Given the description of an element on the screen output the (x, y) to click on. 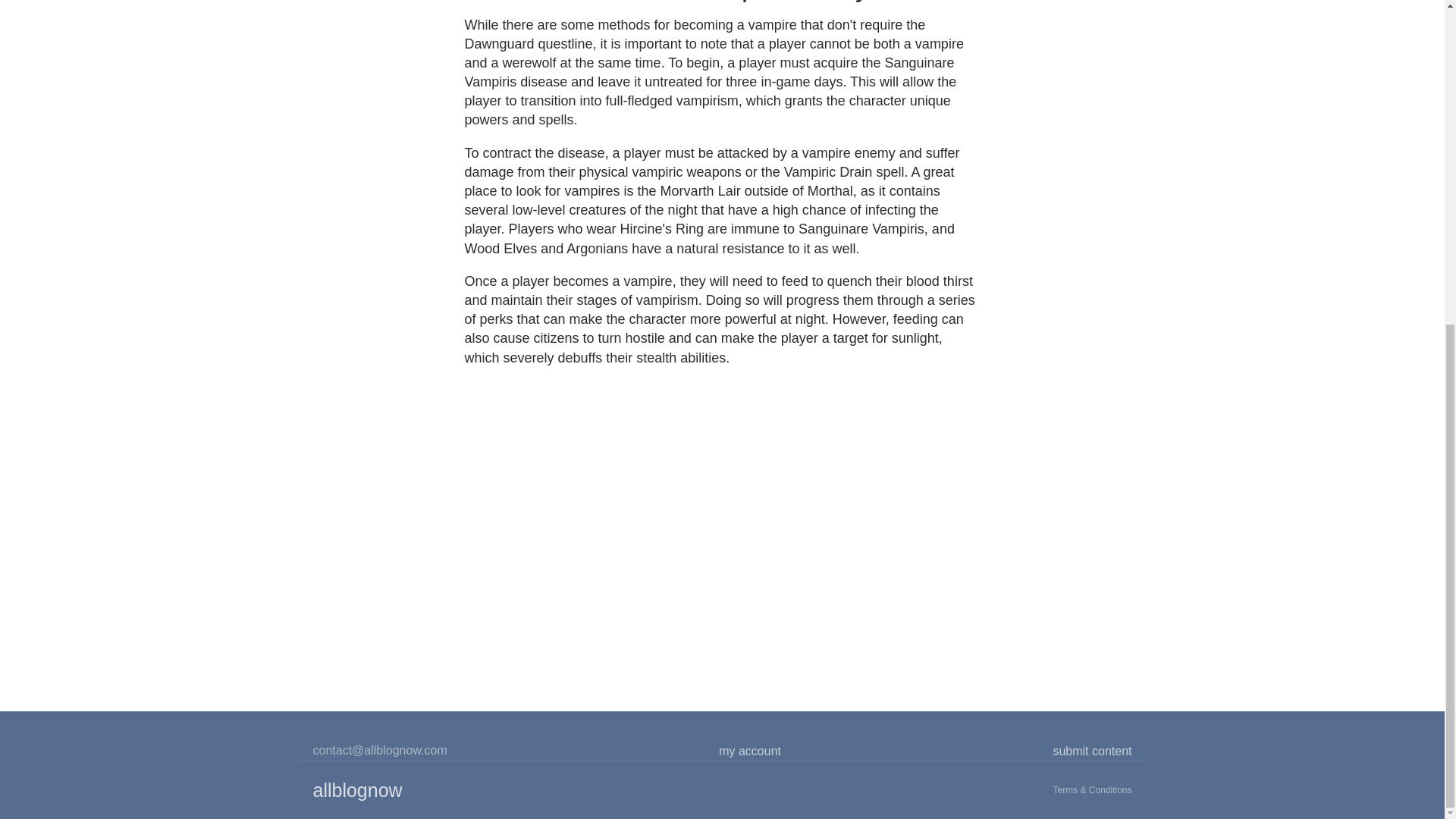
allblognow (357, 789)
my account (749, 751)
submit content (1091, 751)
